Given the description of an element on the screen output the (x, y) to click on. 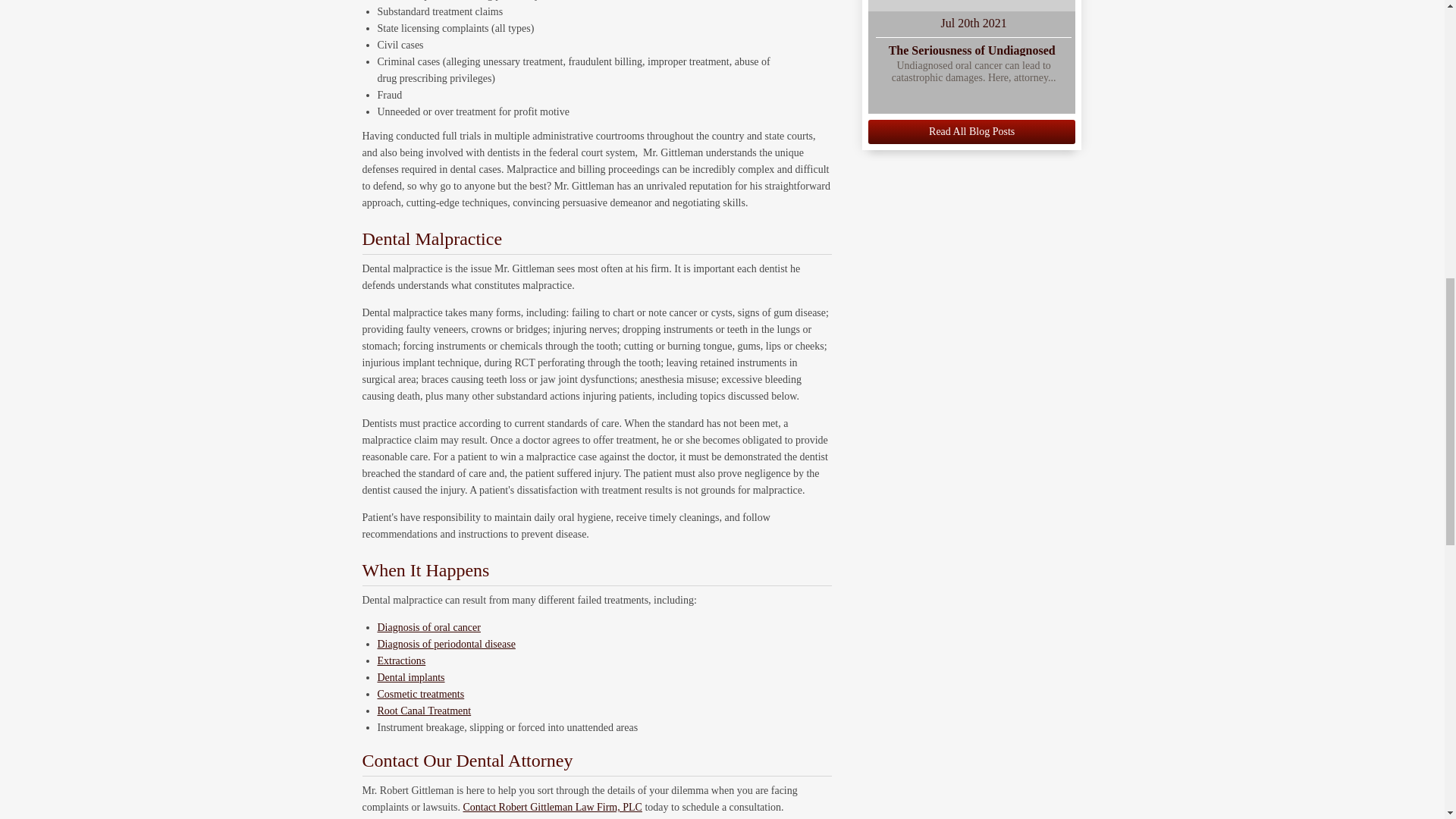
Diagnosis of periodontal disease (446, 644)
Cosmetic treatments (420, 694)
Contact Robert Gittleman Law Firm, PLC (552, 807)
Root Canal Treatment (424, 710)
Extractions (401, 660)
Read All Blog Posts (971, 131)
Dental implants (411, 677)
Diagnosis of oral cancer (428, 627)
